Given the description of an element on the screen output the (x, y) to click on. 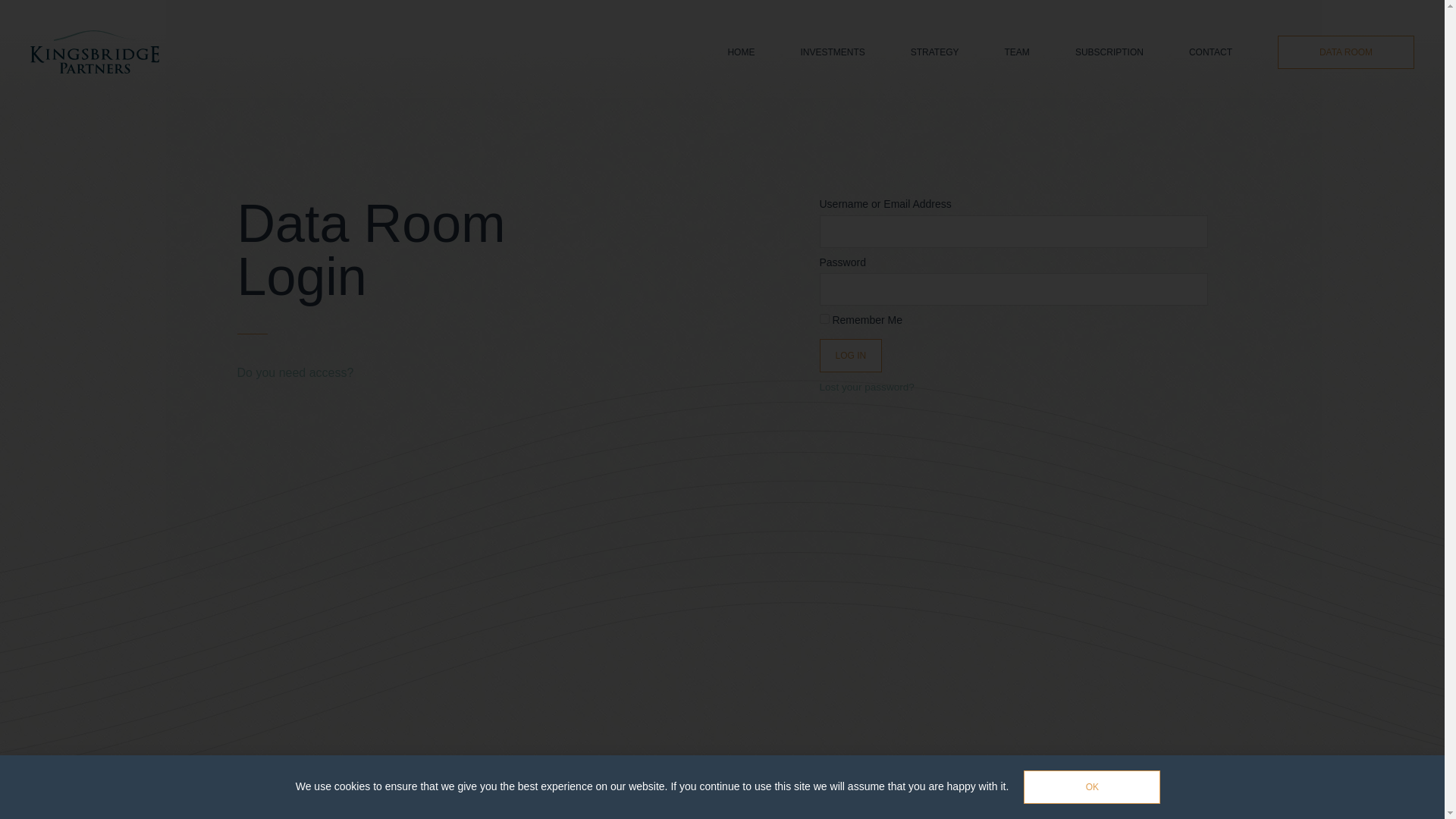
SUBSCRIPTION (1108, 52)
OK (1091, 786)
STRATEGY (935, 52)
INVESTMENTS (831, 52)
Do you need access? (294, 372)
DATA ROOM (1345, 52)
forever (823, 318)
LOG IN (850, 355)
Lost your password? (866, 386)
CONTACT (1210, 52)
